Given the description of an element on the screen output the (x, y) to click on. 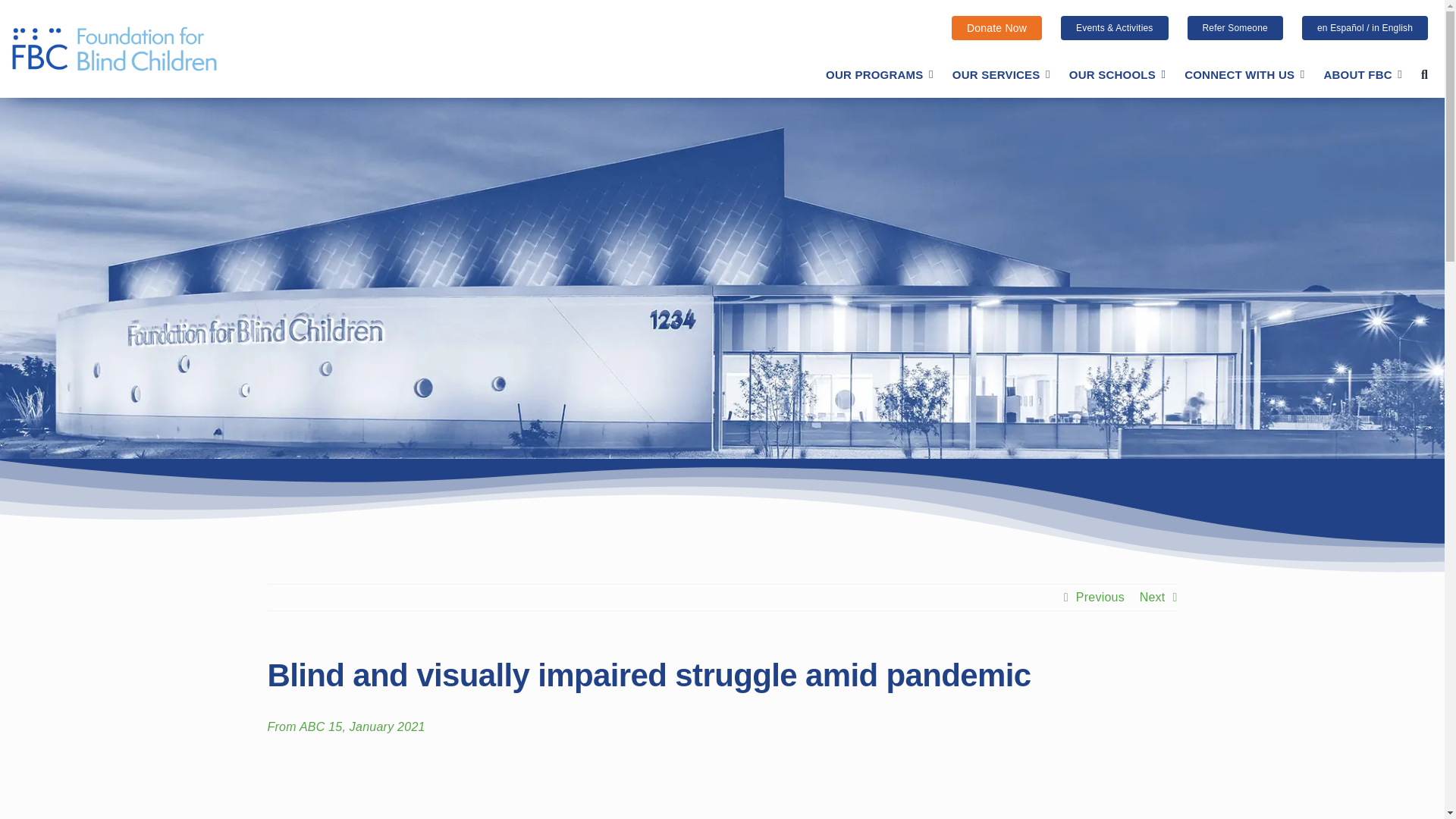
Refer Someone (1235, 27)
OUR SERVICES (1000, 75)
OUR PROGRAMS (879, 75)
Donate Now (997, 27)
OUR SCHOOLS (1117, 75)
